Given the description of an element on the screen output the (x, y) to click on. 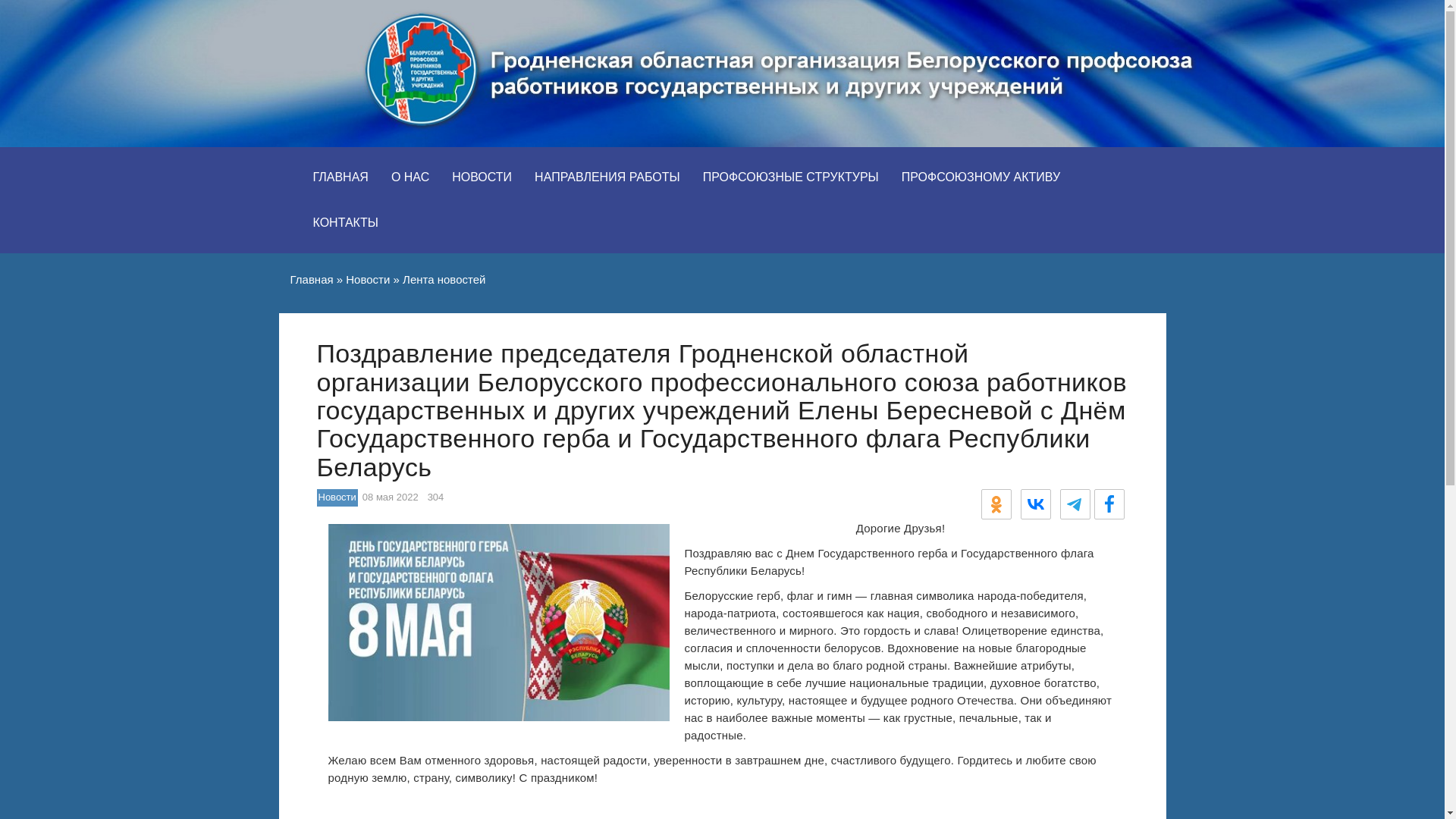
Telegram Element type: hover (1075, 504)
